Given the description of an element on the screen output the (x, y) to click on. 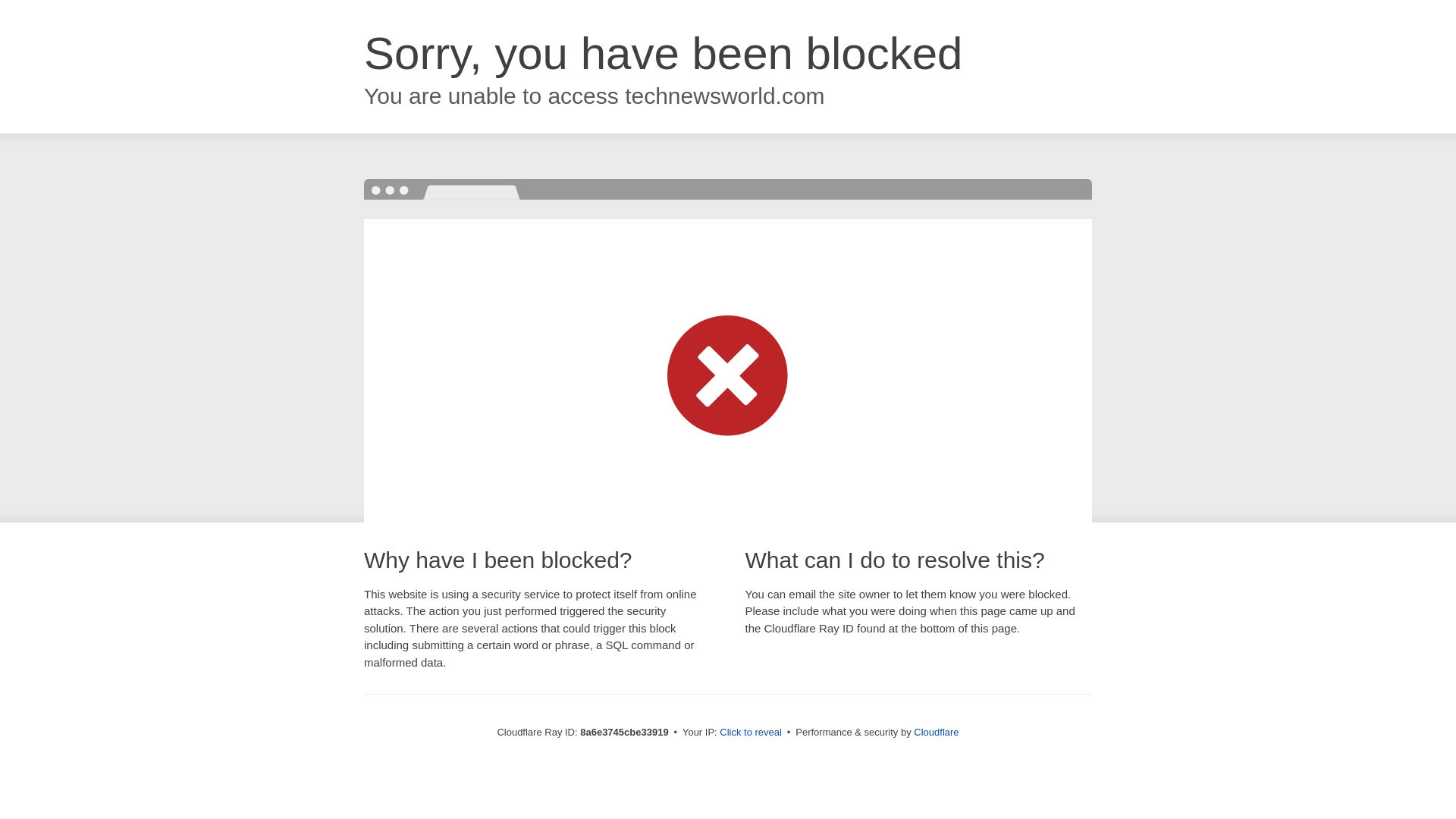
Cloudflare (936, 731)
Click to reveal (750, 732)
